Given the description of an element on the screen output the (x, y) to click on. 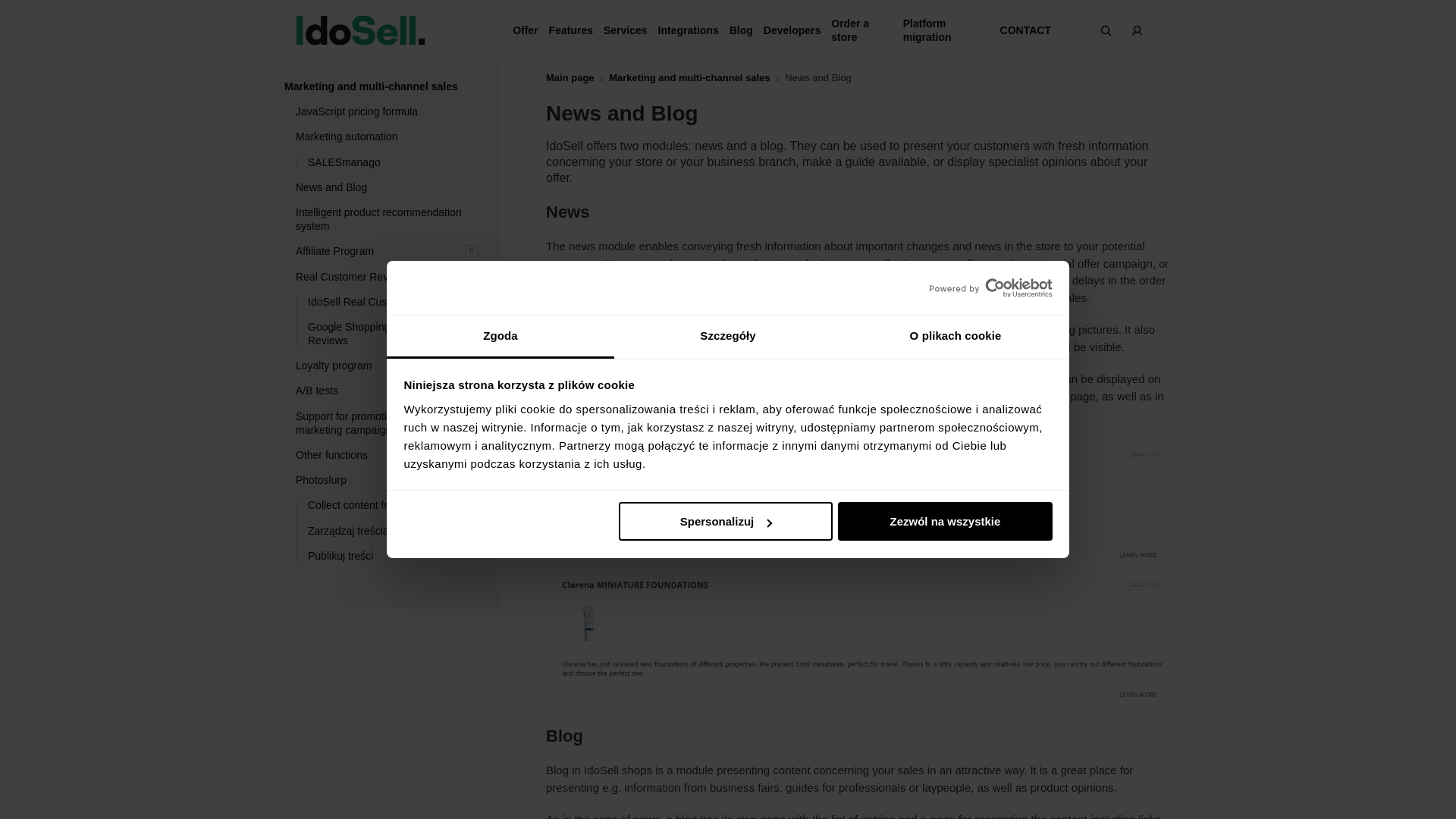
Zgoda (500, 336)
O plikach cookie (954, 336)
